Given the description of an element on the screen output the (x, y) to click on. 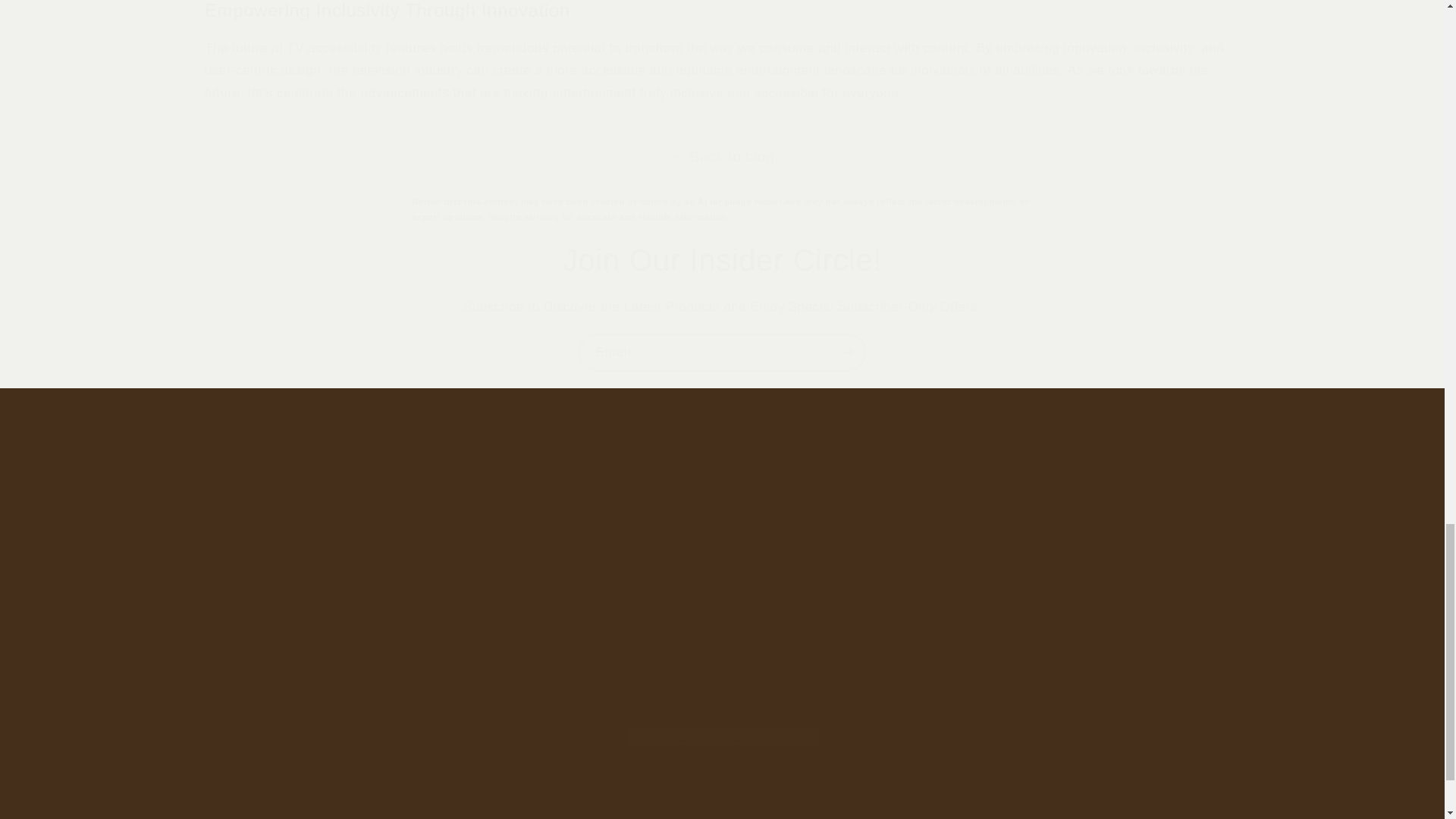
Email (722, 352)
Join Our Insider Circle! (722, 260)
